Given the description of an element on the screen output the (x, y) to click on. 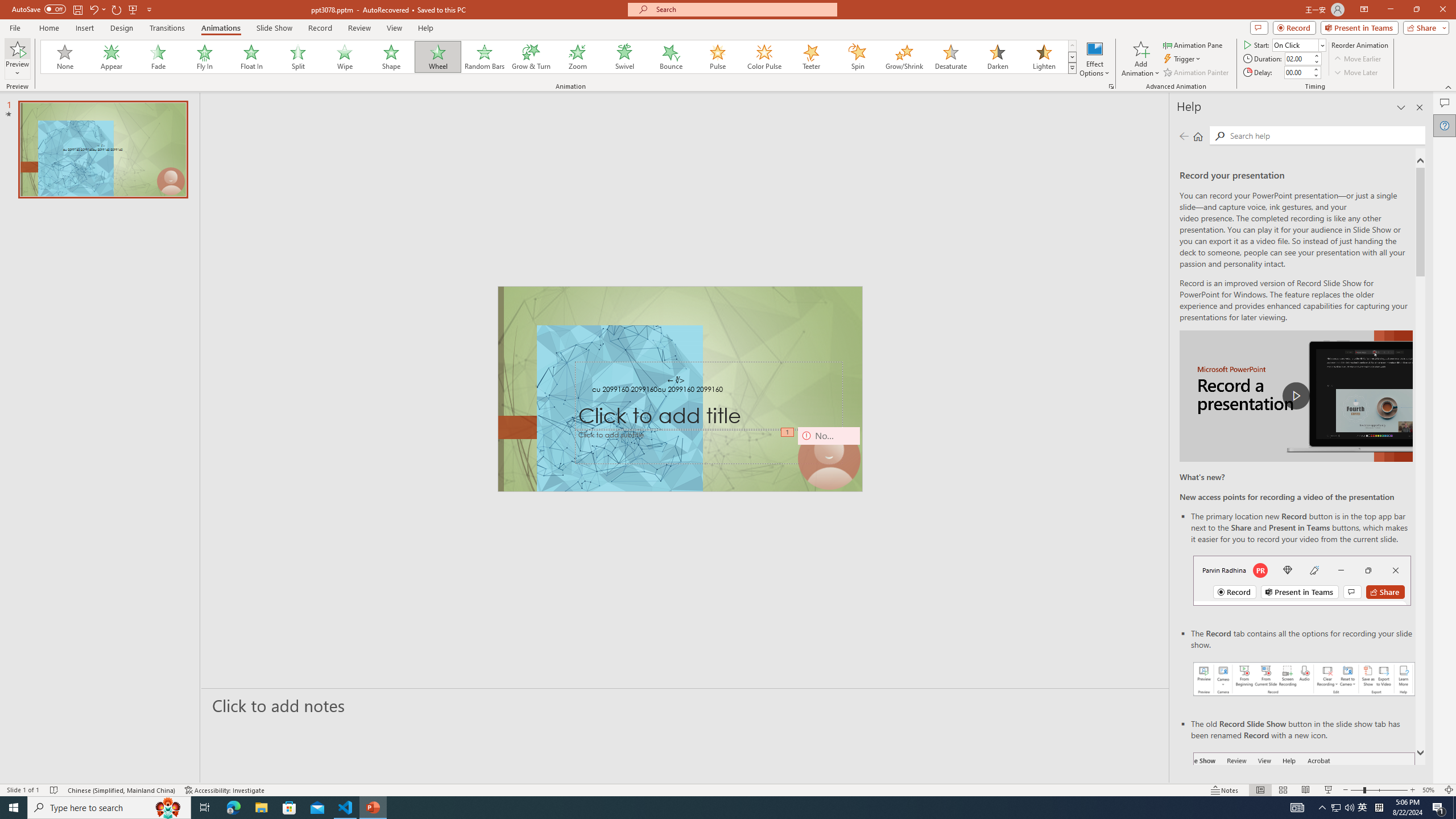
TextBox 61 (679, 389)
Record your presentations screenshot one (1304, 678)
Darken (997, 56)
Teeter (810, 56)
Zoom 50% (1430, 790)
